Given the description of an element on the screen output the (x, y) to click on. 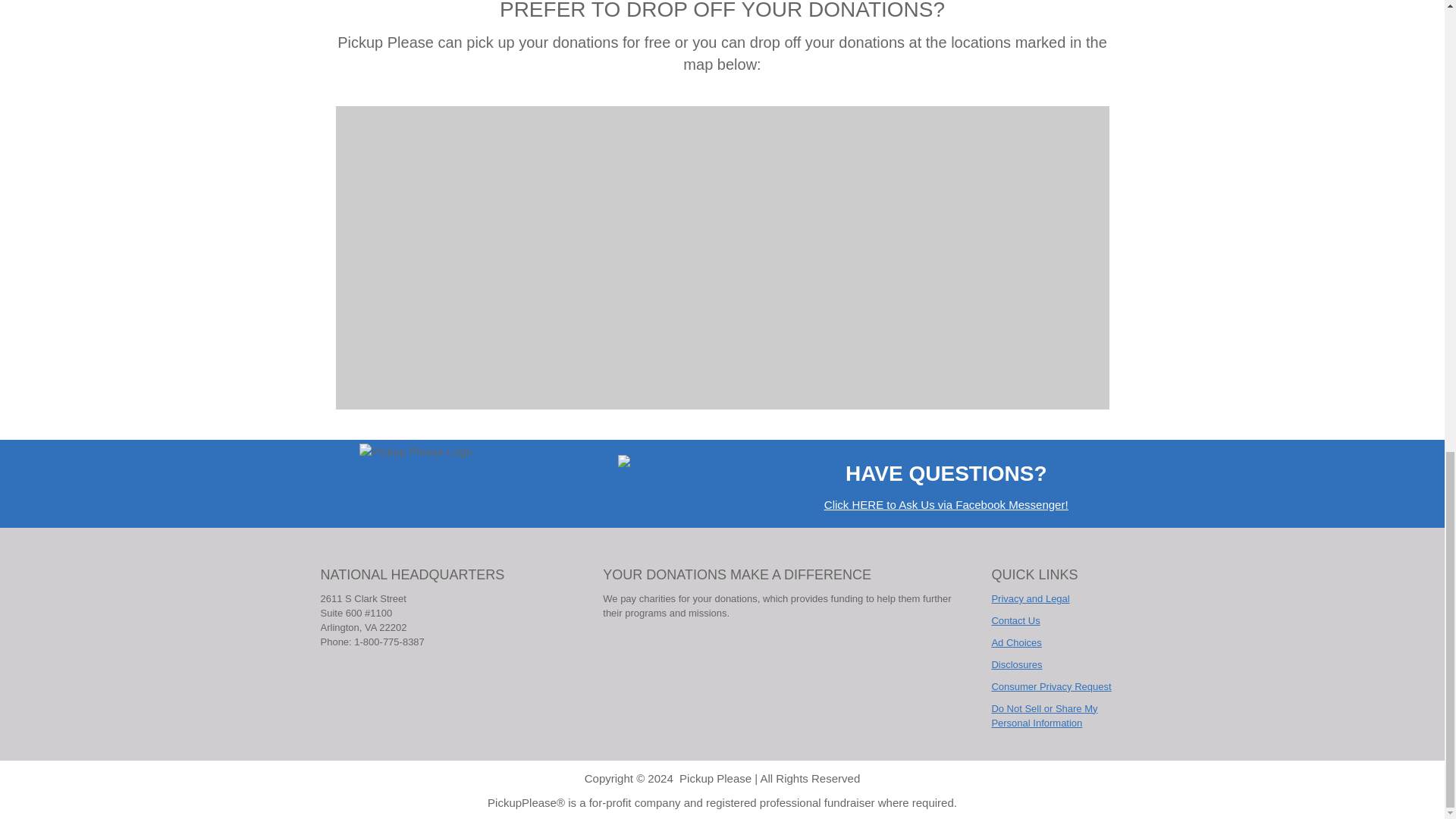
Contact Us (1015, 620)
Privacy and Legal (1029, 598)
Do Not Sell or Share My Personal Information (1044, 715)
Click HERE to Ask Us via Facebook Messenger! (946, 503)
Consumer Privacy Request (1050, 686)
Ad Choices (1016, 642)
FMB-via-FB (653, 460)
Disclosures (1016, 664)
